Given the description of an element on the screen output the (x, y) to click on. 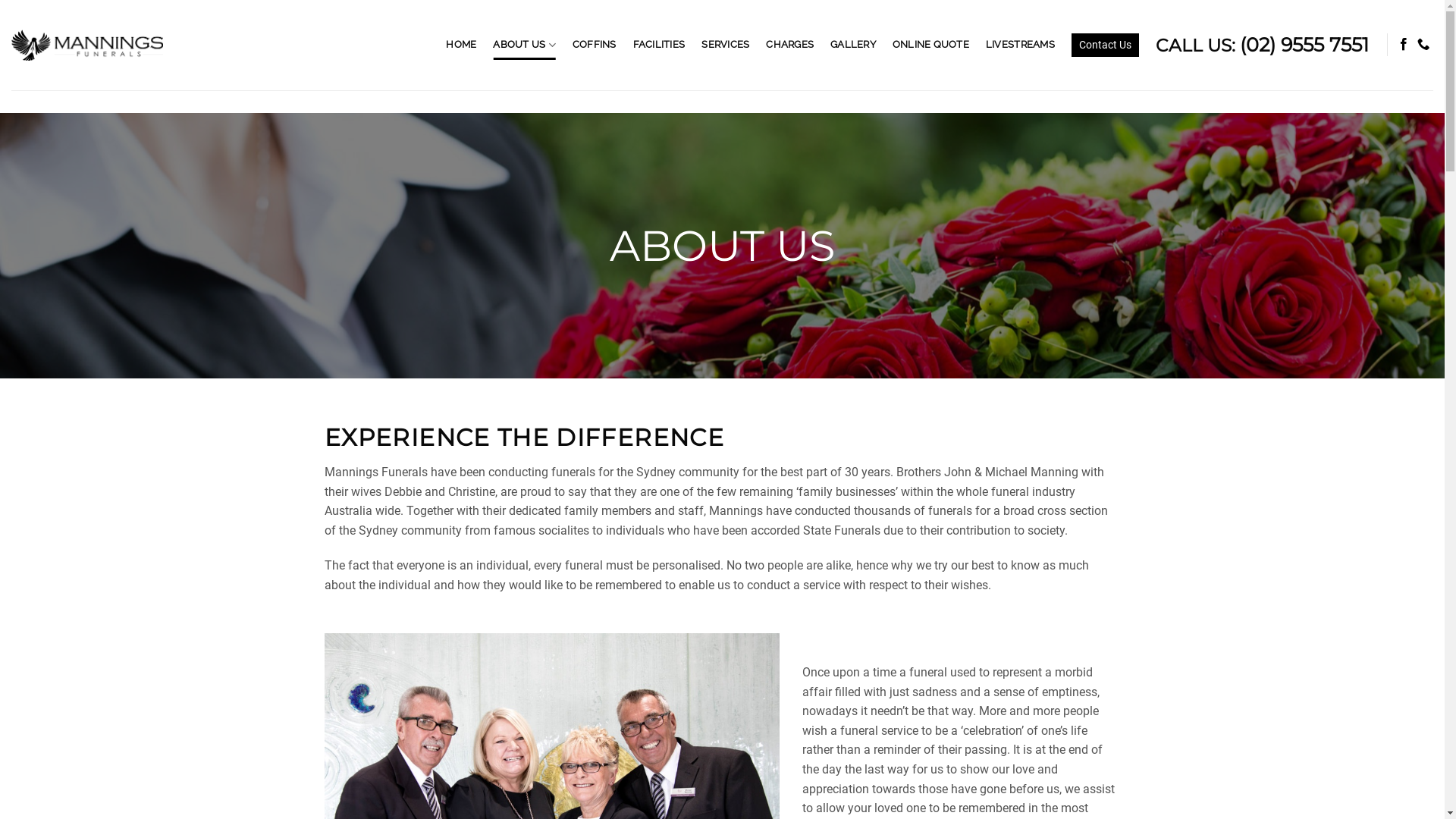
ABOUT US Element type: text (523, 44)
Contact Us Element type: text (1105, 44)
HOME Element type: text (460, 44)
LIVESTREAMS Element type: text (1019, 44)
GALLERY Element type: text (852, 44)
CHARGES Element type: text (789, 44)
ONLINE QUOTE Element type: text (930, 44)
SERVICES Element type: text (725, 44)
COFFINS Element type: text (594, 44)
FACILITIES Element type: text (659, 44)
